Given the description of an element on the screen output the (x, y) to click on. 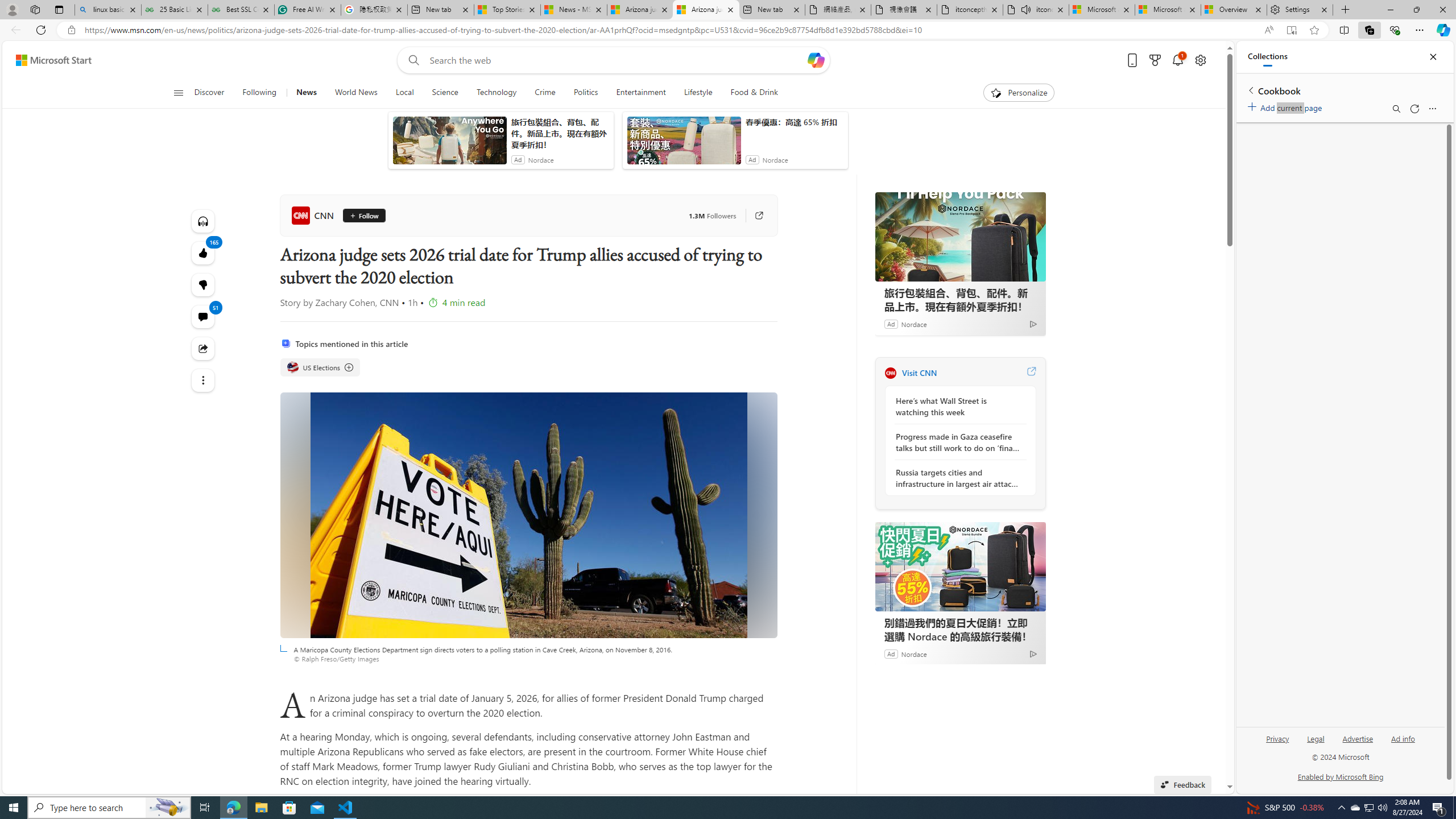
Food & Drink (748, 92)
News - MSN (573, 9)
Technology (496, 92)
Class: at-item (202, 380)
Science (444, 92)
itconcepthk.com/projector_solutions.mp4 - Audio playing (1036, 9)
